Given the description of an element on the screen output the (x, y) to click on. 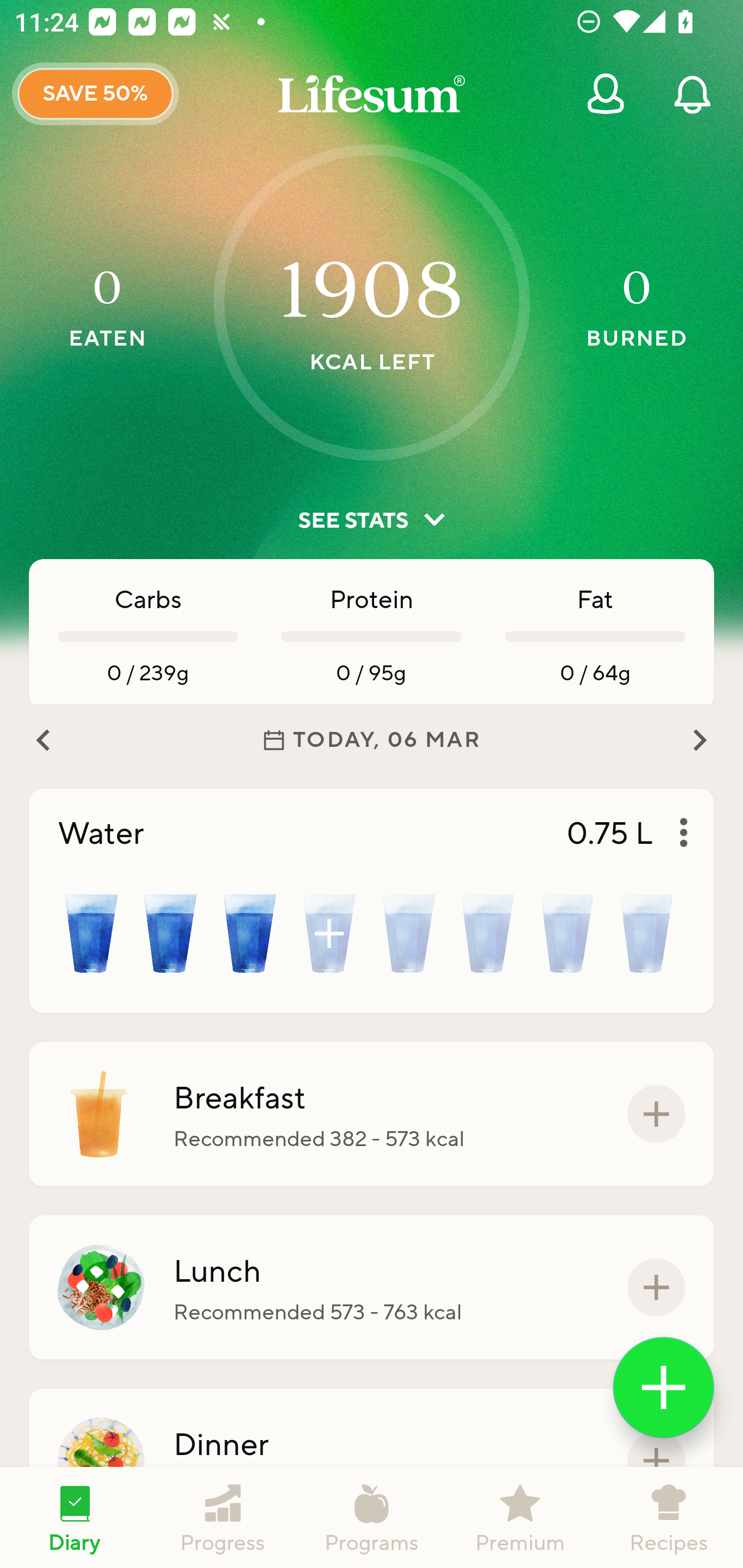
SEE STATS (371, 519)
TODAY, 06 MAR (371, 739)
Breakfast Recommended 382 - 573 kcal (371, 1113)
Lunch Recommended 573 - 763 kcal (371, 1287)
Dinner Recommended 573 - 763 kcal (371, 1461)
Progress (222, 1517)
Programs (371, 1517)
Premium (519, 1517)
Recipes (668, 1517)
